Given the description of an element on the screen output the (x, y) to click on. 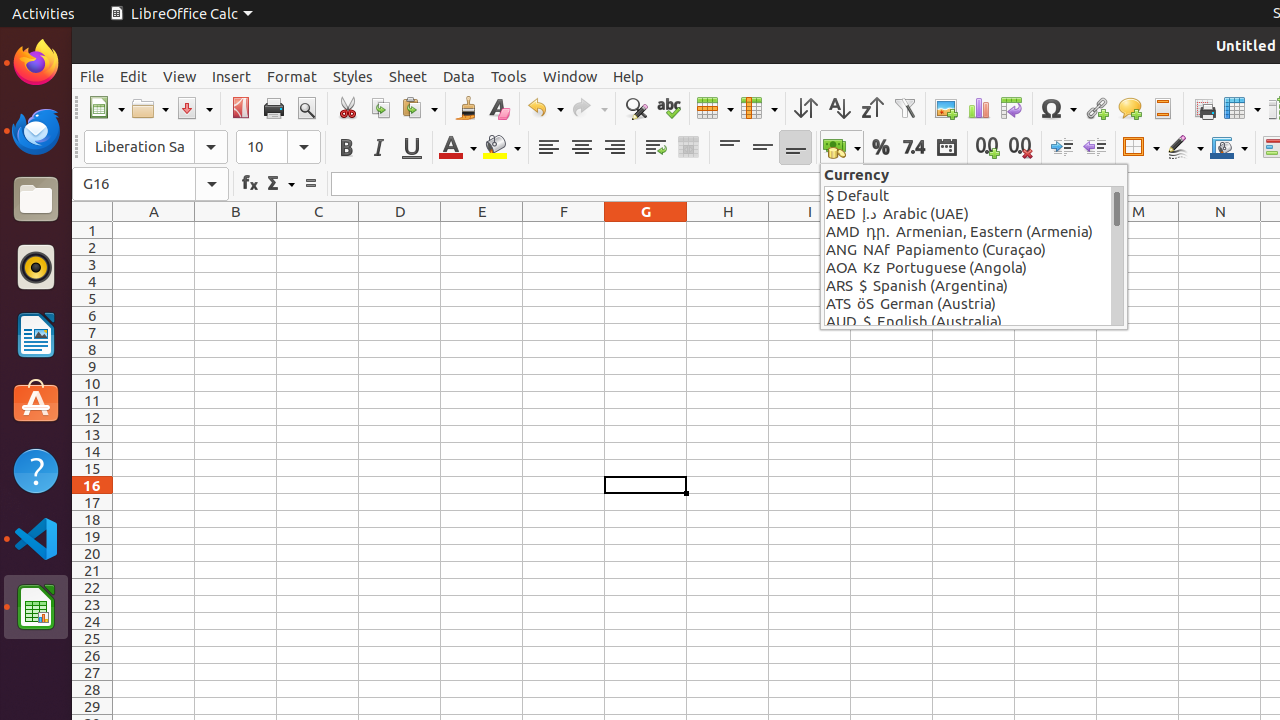
Border Style Element type: push-button (1185, 147)
Increase Element type: push-button (1061, 147)
Tools Element type: menu (509, 76)
Formula Element type: push-button (310, 183)
Name Box Element type: combo-box (150, 184)
